Given the description of an element on the screen output the (x, y) to click on. 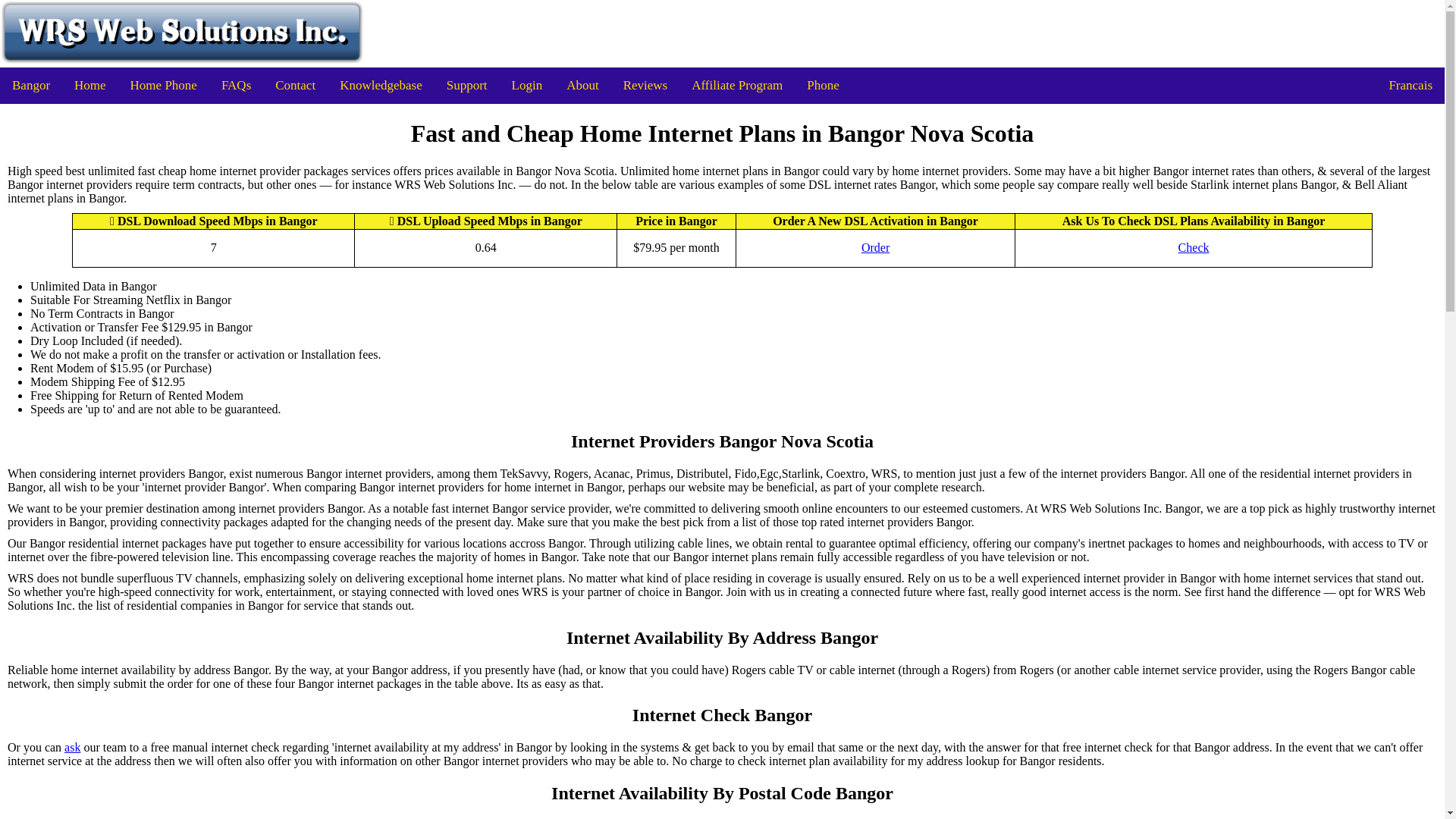
Login (526, 85)
Knowledgebase (380, 85)
About (582, 85)
Check (1193, 247)
FAQs (236, 85)
Contact (295, 85)
Home (89, 85)
Bangor (31, 85)
Order (875, 247)
Phone (822, 85)
